Given the description of an element on the screen output the (x, y) to click on. 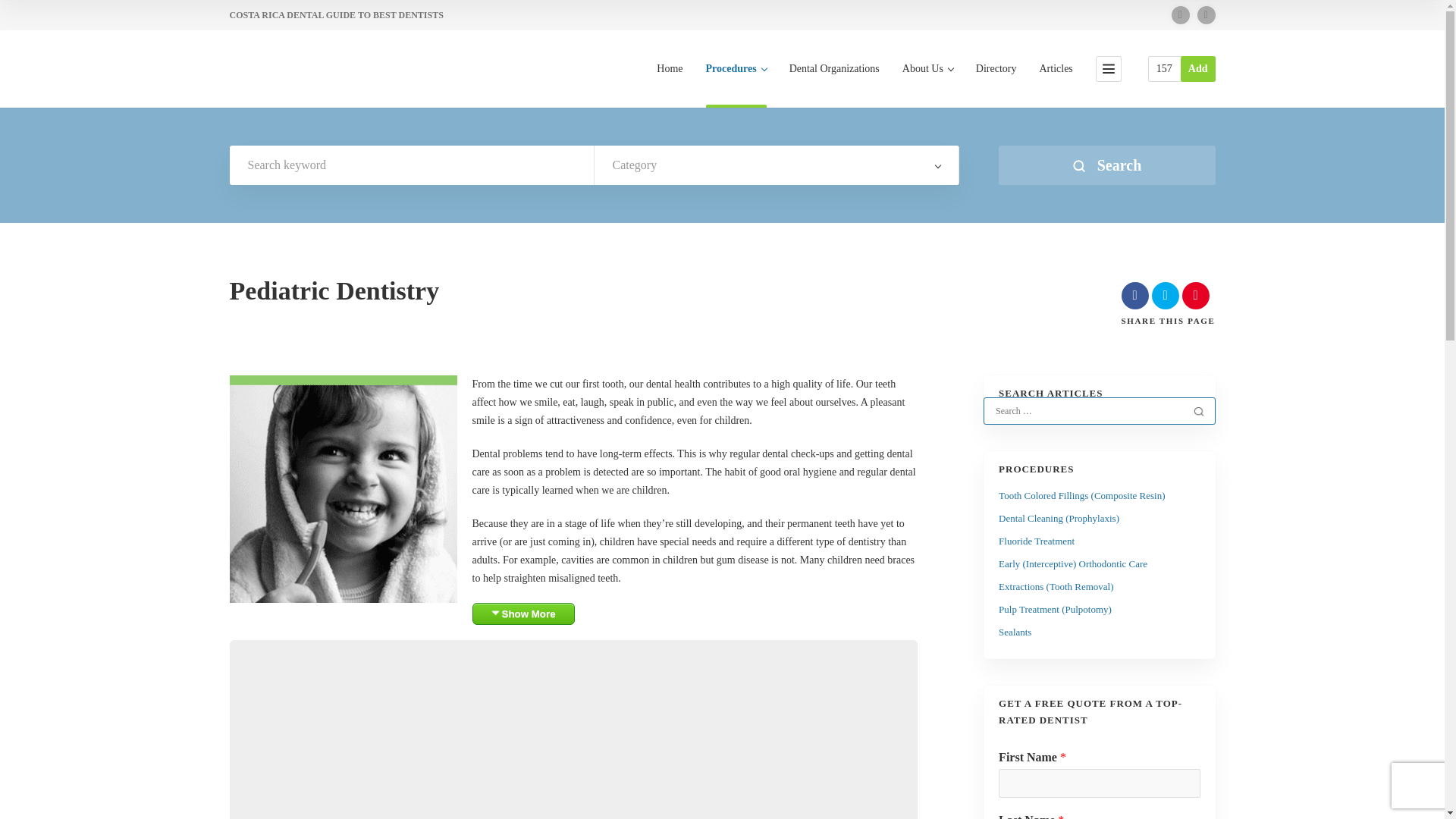
Costa Rica Dental Guide to Best Dentists (257, 69)
About Us (927, 84)
Search (1198, 411)
Search for: (1087, 411)
Search (1105, 165)
Resources (1164, 68)
Directory (995, 84)
Search (1198, 411)
Dental Organizations (834, 84)
Procedures (736, 84)
Search (1105, 165)
